Given the description of an element on the screen output the (x, y) to click on. 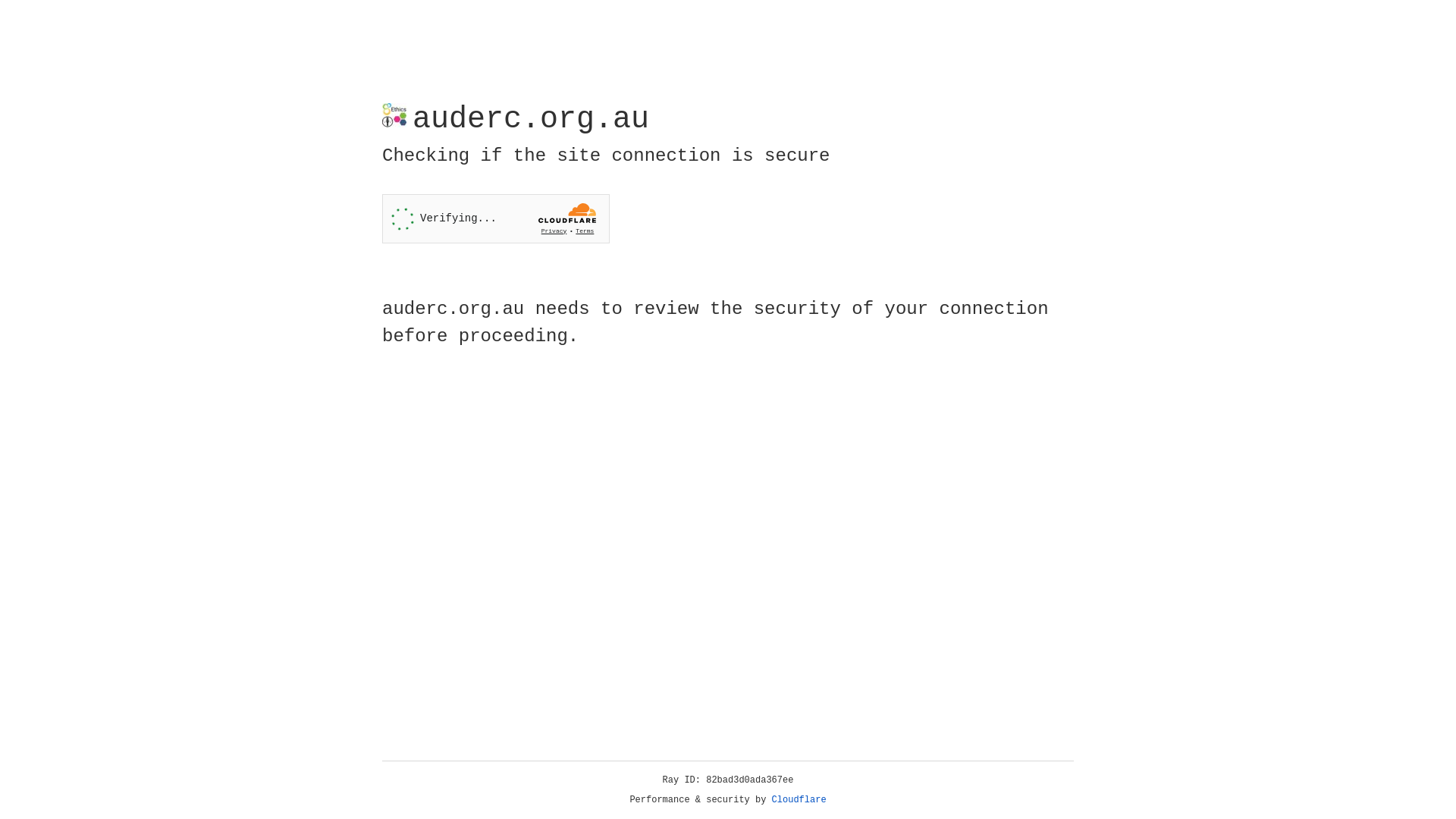
Cloudflare Element type: text (798, 799)
Widget containing a Cloudflare security challenge Element type: hover (495, 218)
